Given the description of an element on the screen output the (x, y) to click on. 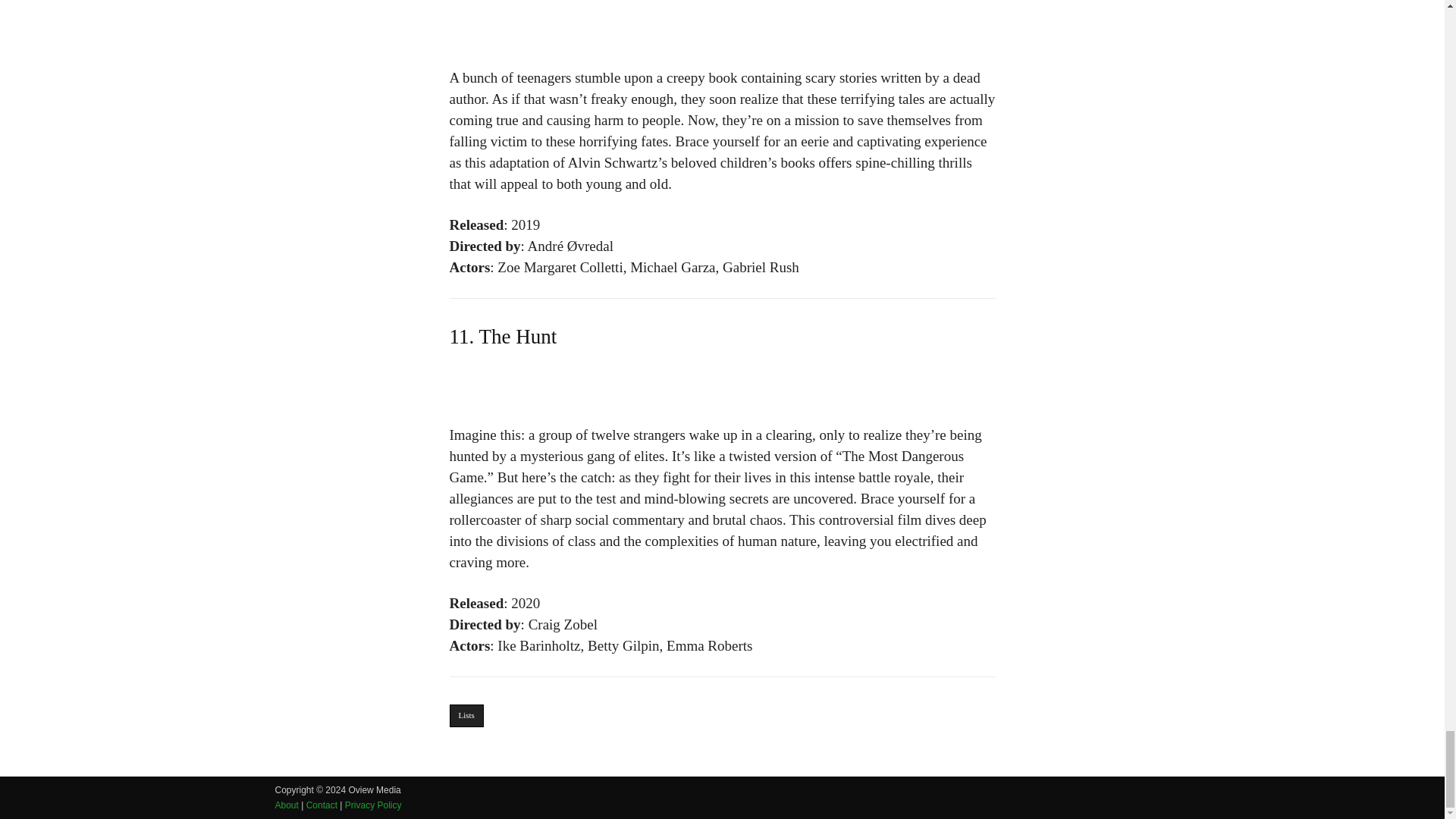
Privacy Policy (373, 805)
About (286, 805)
Lists (465, 715)
Contact (321, 805)
